Given the description of an element on the screen output the (x, y) to click on. 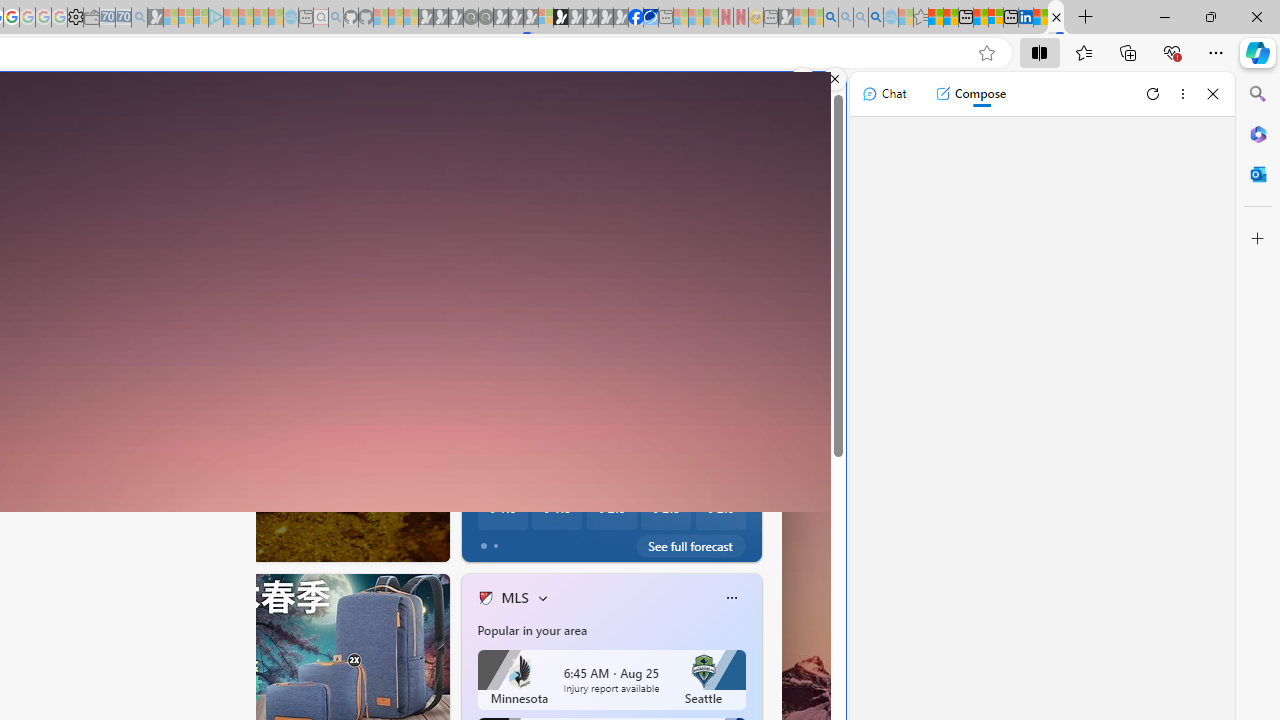
Body Network (477, 473)
CNBC (477, 442)
Feed settings (698, 232)
Class: weather-arrow-glyph (742, 333)
